Given the description of an element on the screen output the (x, y) to click on. 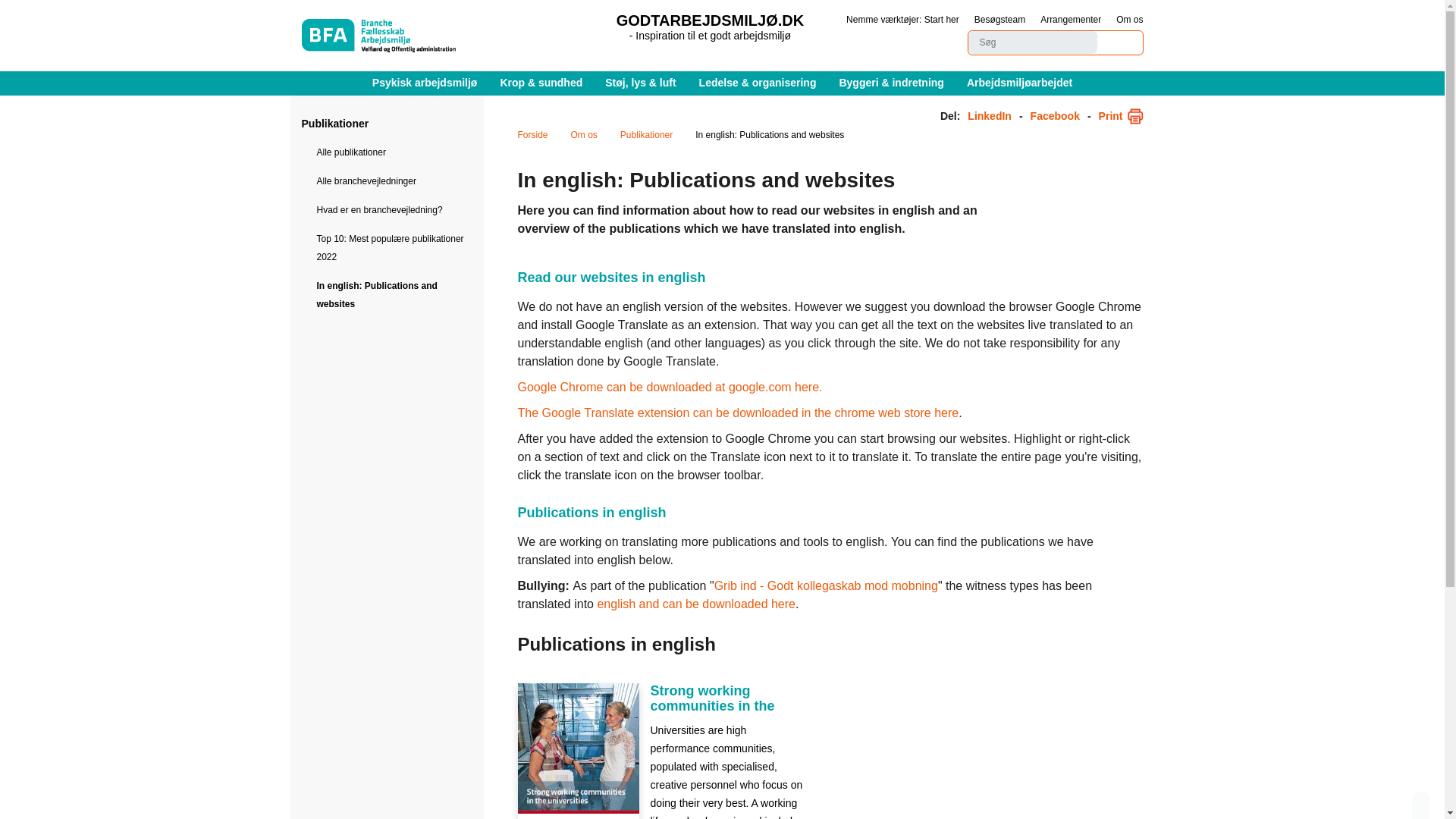
Publikationer (335, 123)
Alle publikationer (386, 152)
Print (1120, 116)
Publikationer (646, 135)
Arrangementer (1070, 19)
Forside (531, 135)
Bystander ROLES (695, 603)
Hvad er en branchevejledning? (386, 209)
In english: Publications and websites (386, 294)
grib-ind-godt-kollegaskab-uden-mobning (825, 585)
Alle branchevejledninger (386, 181)
Grib ind - Godt kollegaskab mod mobning (825, 585)
Google Chrome can be downloaded at google.com here. (669, 386)
Facebook (1055, 116)
